Given the description of an element on the screen output the (x, y) to click on. 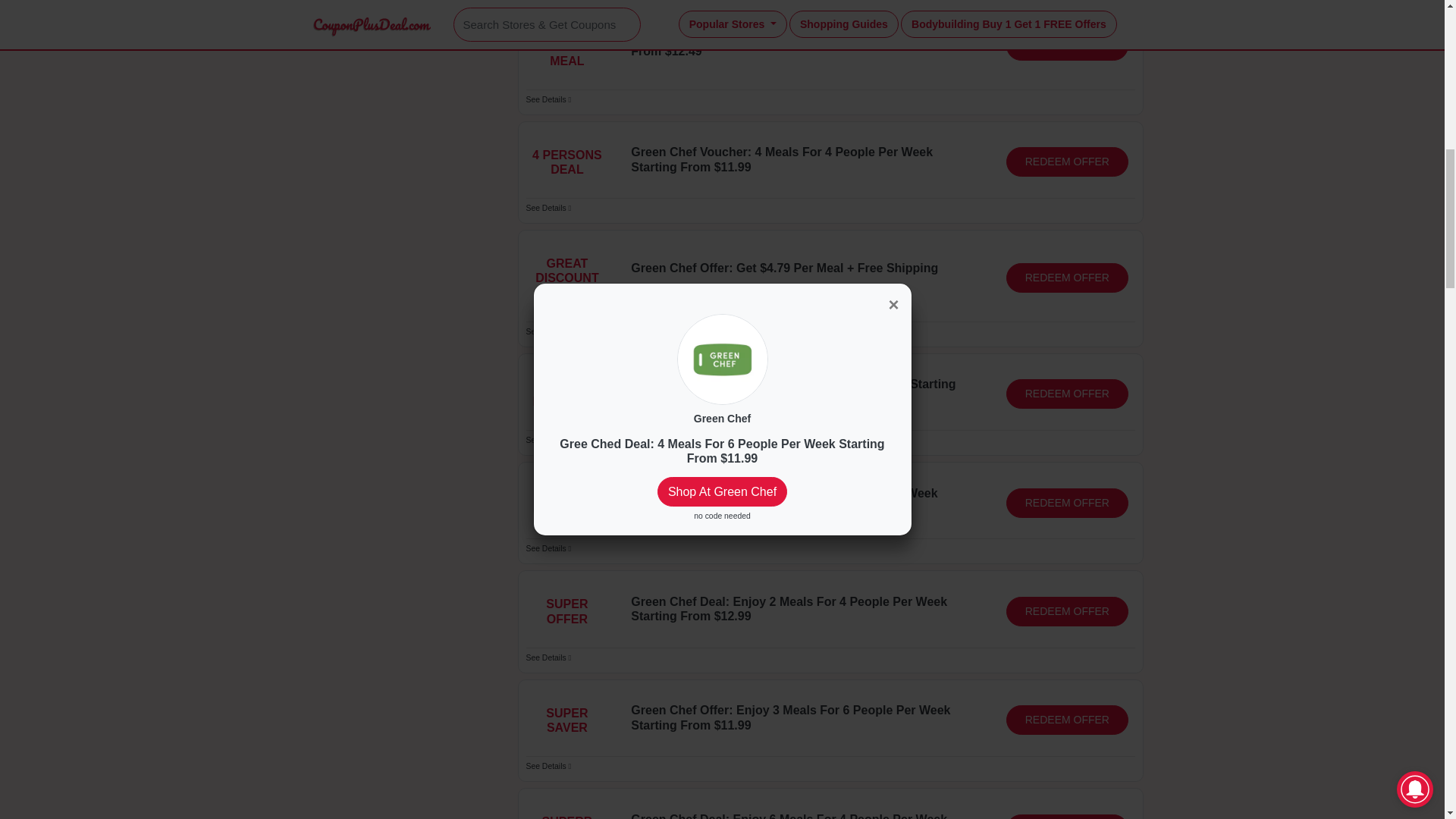
See Details (548, 548)
REDEEM OFFER (1067, 502)
See Details (548, 439)
See Details (548, 207)
See Details (548, 657)
REDEEM OFFER (1067, 161)
See Details (548, 331)
See Details (548, 99)
See Details (548, 766)
REDEEM OFFER (1067, 45)
REDEEM OFFER (1067, 277)
REDEEM OFFER (1067, 719)
REDEEM OFFER (1067, 816)
REDEEM OFFER (1067, 611)
REDEEM OFFER (1067, 393)
